Given the description of an element on the screen output the (x, y) to click on. 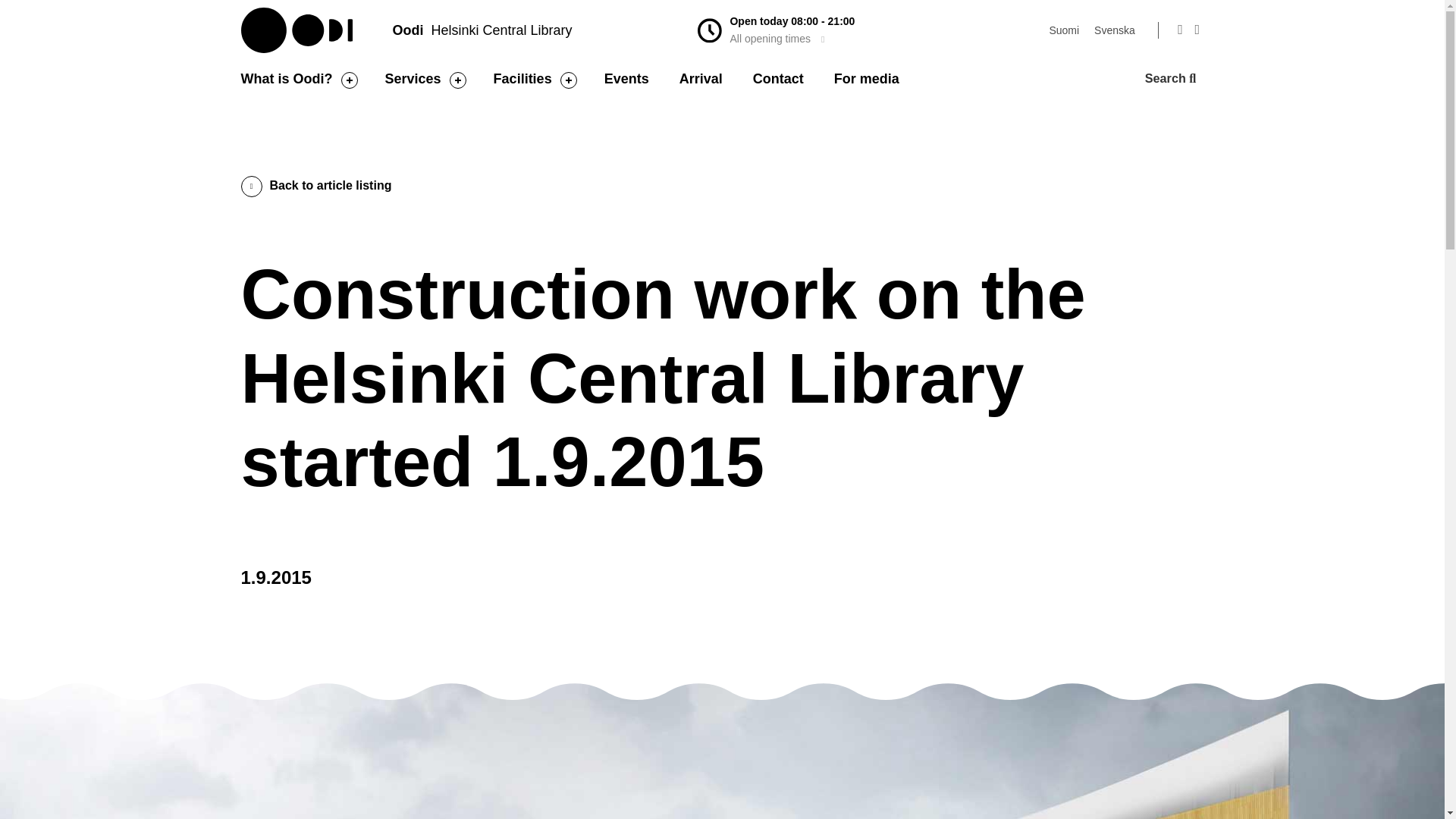
For media (866, 78)
Svenska (1114, 30)
Arrival (700, 78)
All opening times (776, 38)
Events (626, 78)
Contact (777, 78)
What is Oodi? (287, 78)
Oodi (298, 30)
Facilities (522, 78)
Services (413, 78)
